Given the description of an element on the screen output the (x, y) to click on. 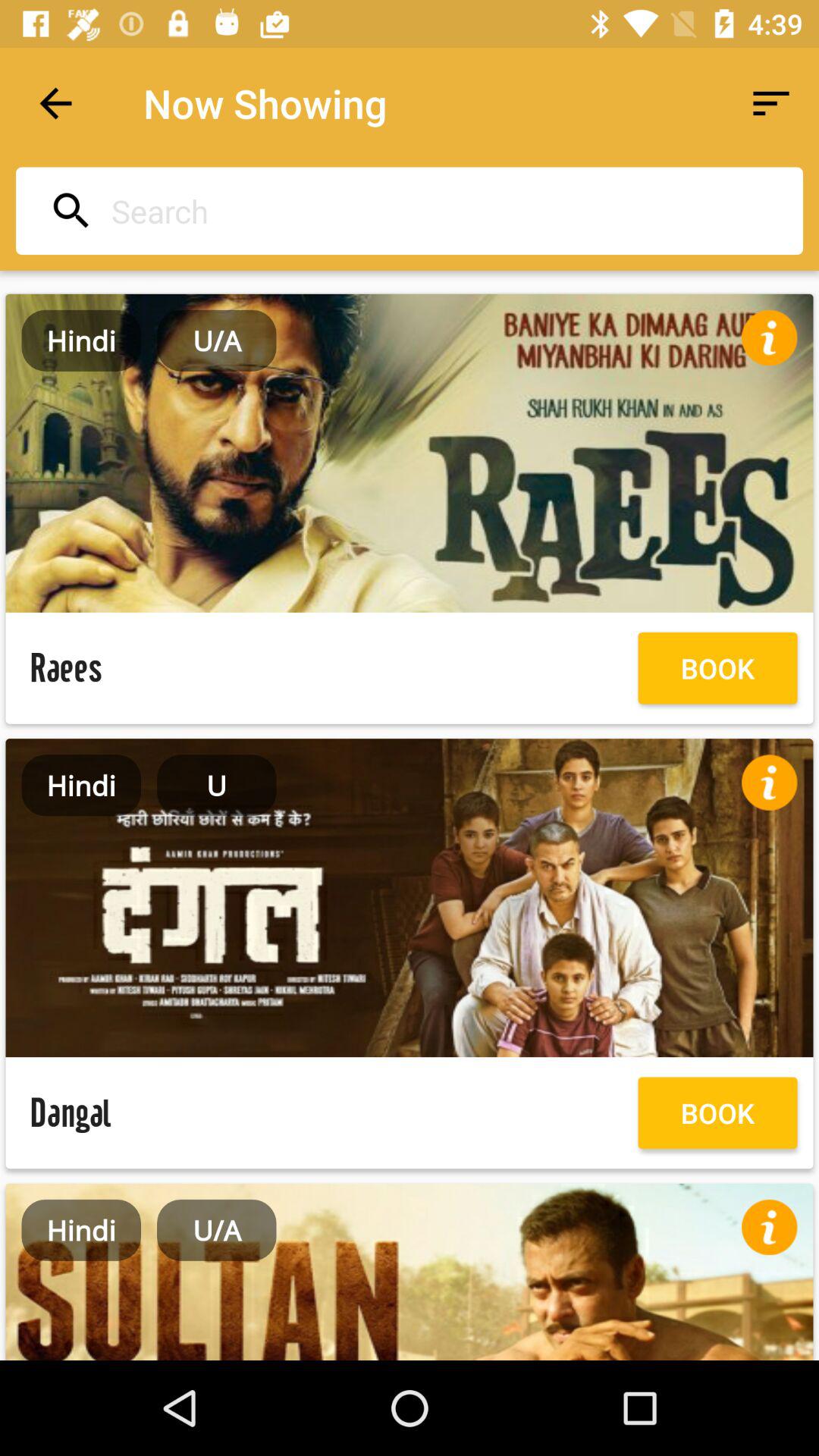
search movies (405, 210)
